Given the description of an element on the screen output the (x, y) to click on. 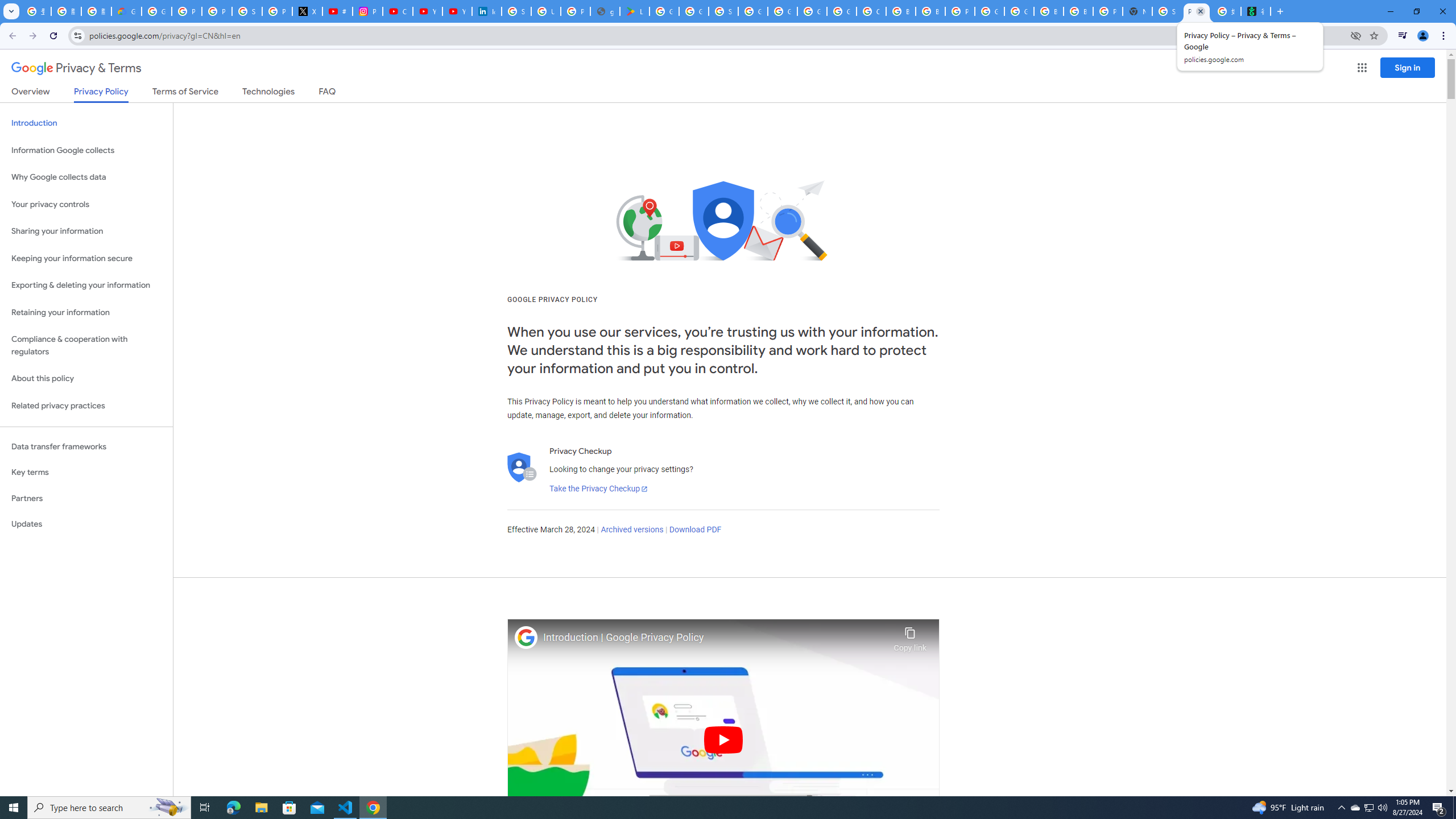
X (306, 11)
